Given the description of an element on the screen output the (x, y) to click on. 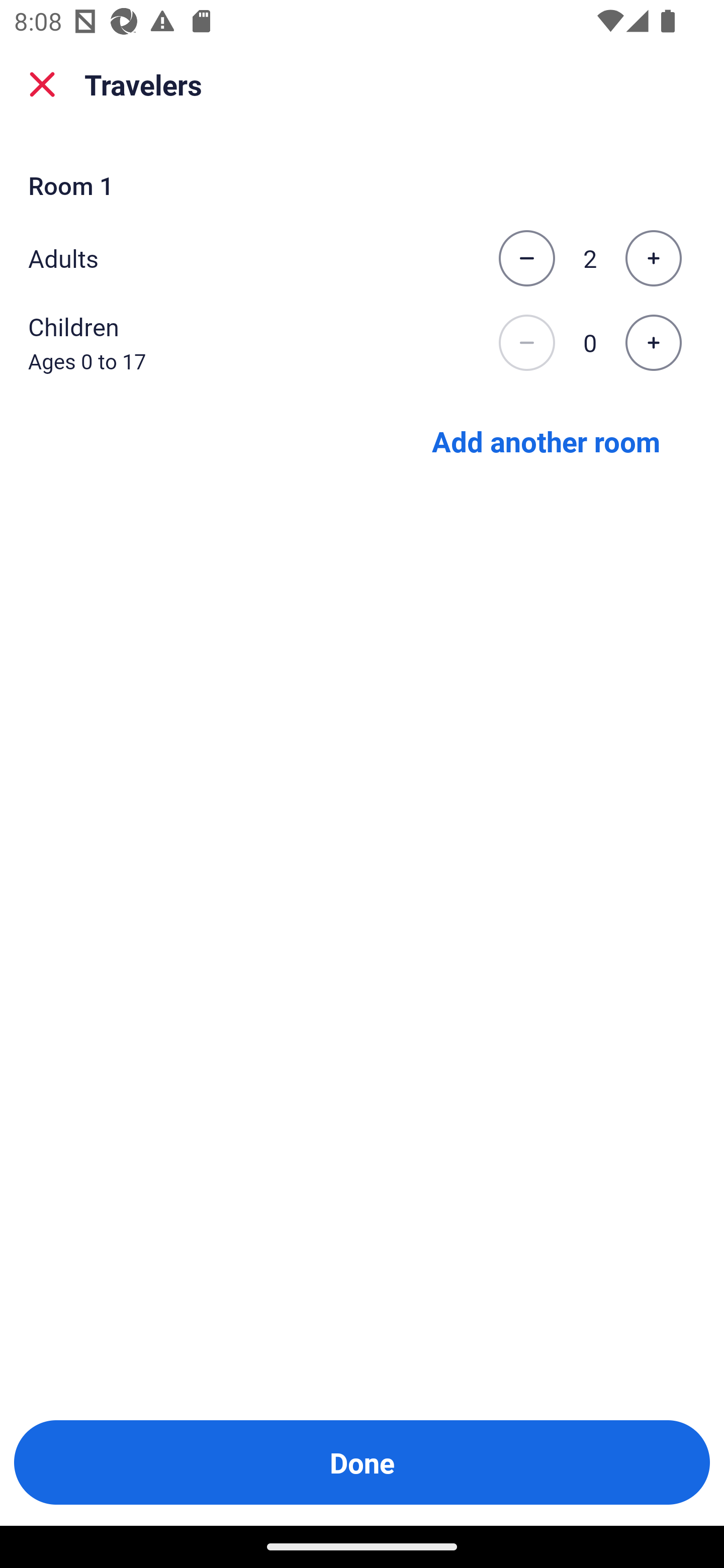
close (42, 84)
Decrease the number of adults (526, 258)
Increase the number of adults (653, 258)
Decrease the number of children (526, 343)
Increase the number of children (653, 343)
Add another room (545, 440)
Done (361, 1462)
